Given the description of an element on the screen output the (x, y) to click on. 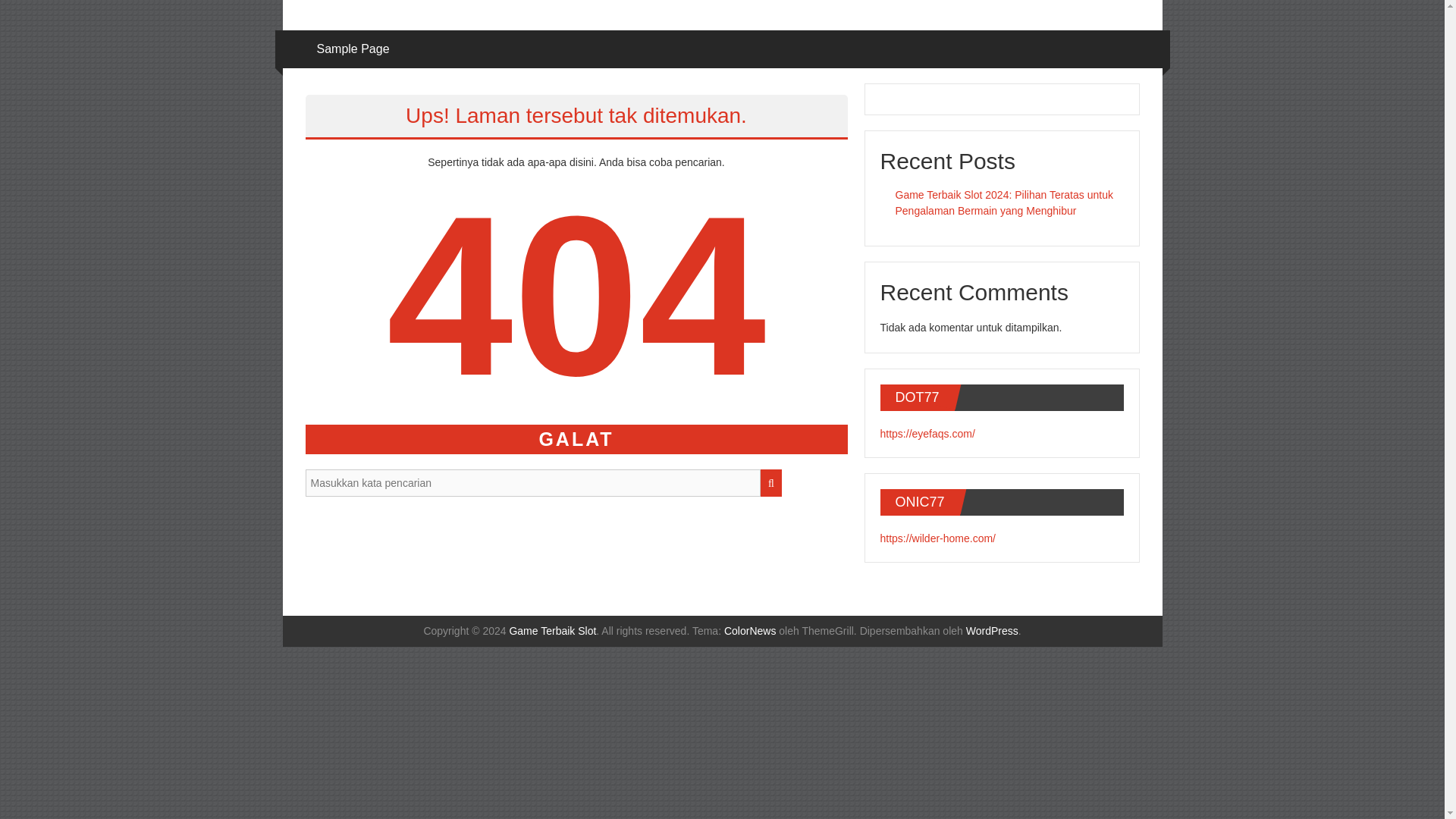
WordPress (991, 630)
Game Terbaik Slot (551, 630)
Game Terbaik Slot (551, 630)
ColorNews (749, 630)
ColorNews (749, 630)
Sample Page (353, 48)
WordPress (991, 630)
